Given the description of an element on the screen output the (x, y) to click on. 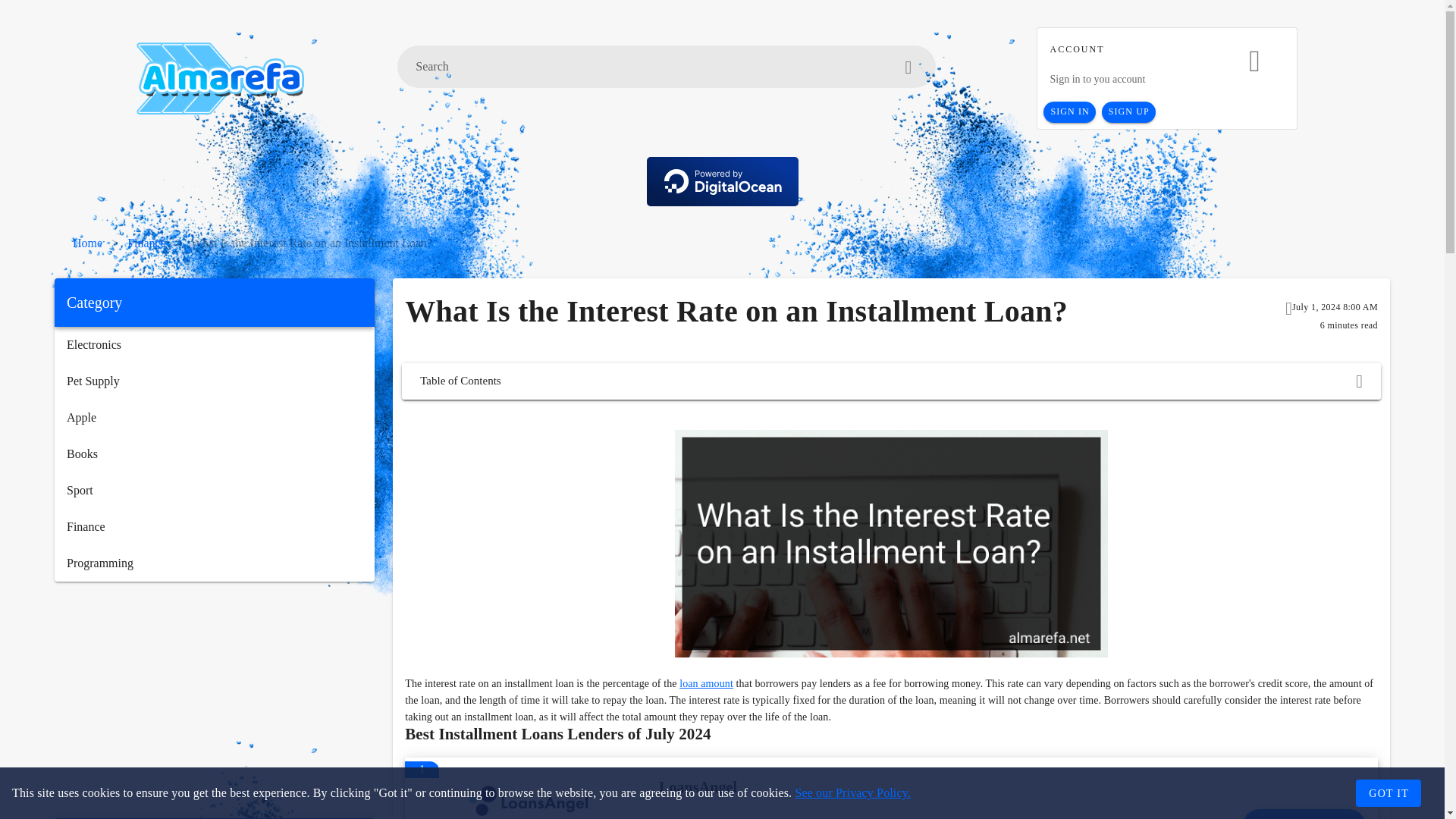
Apple (214, 417)
Electronics (214, 344)
Programming (214, 563)
What Is the Interest Rate on an Installment Loan? (311, 243)
Finance (146, 243)
SIGN UP (1129, 111)
Books (214, 453)
GET LOAN NOW (1304, 814)
Pet Supply (214, 381)
Table of Contents (890, 381)
Finance (214, 526)
SIGN IN (1068, 111)
Advertisement (214, 699)
Home (86, 243)
loan amount (706, 683)
